Given the description of an element on the screen output the (x, y) to click on. 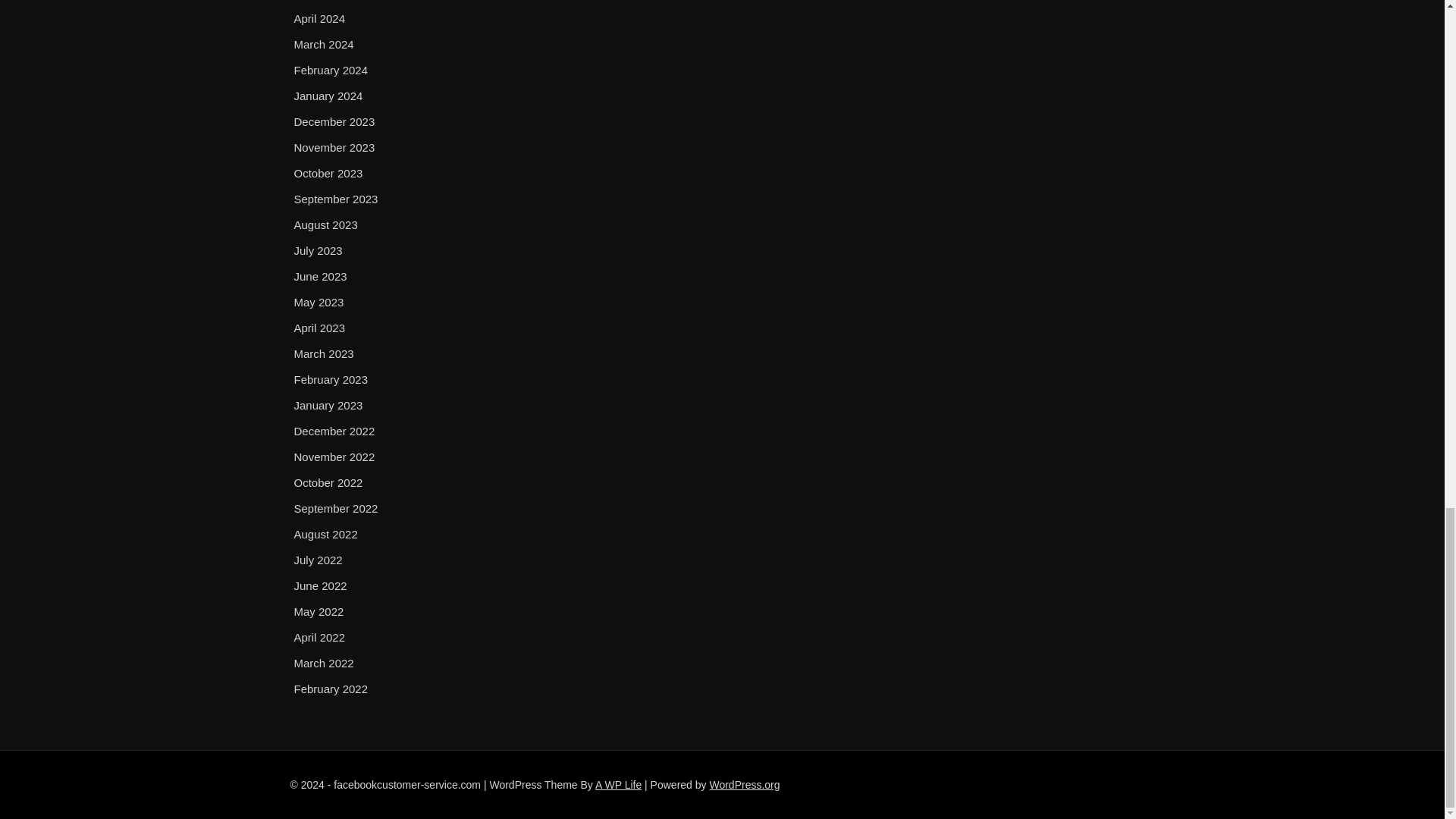
March 2024 (323, 45)
May 2024 (318, 1)
November 2023 (334, 147)
October 2023 (328, 173)
February 2023 (331, 380)
February 2024 (331, 70)
December 2023 (334, 122)
December 2022 (334, 431)
May 2023 (318, 302)
September 2023 (336, 199)
November 2022 (334, 456)
June 2023 (320, 276)
July 2023 (318, 250)
April 2023 (320, 328)
January 2023 (328, 405)
